Given the description of an element on the screen output the (x, y) to click on. 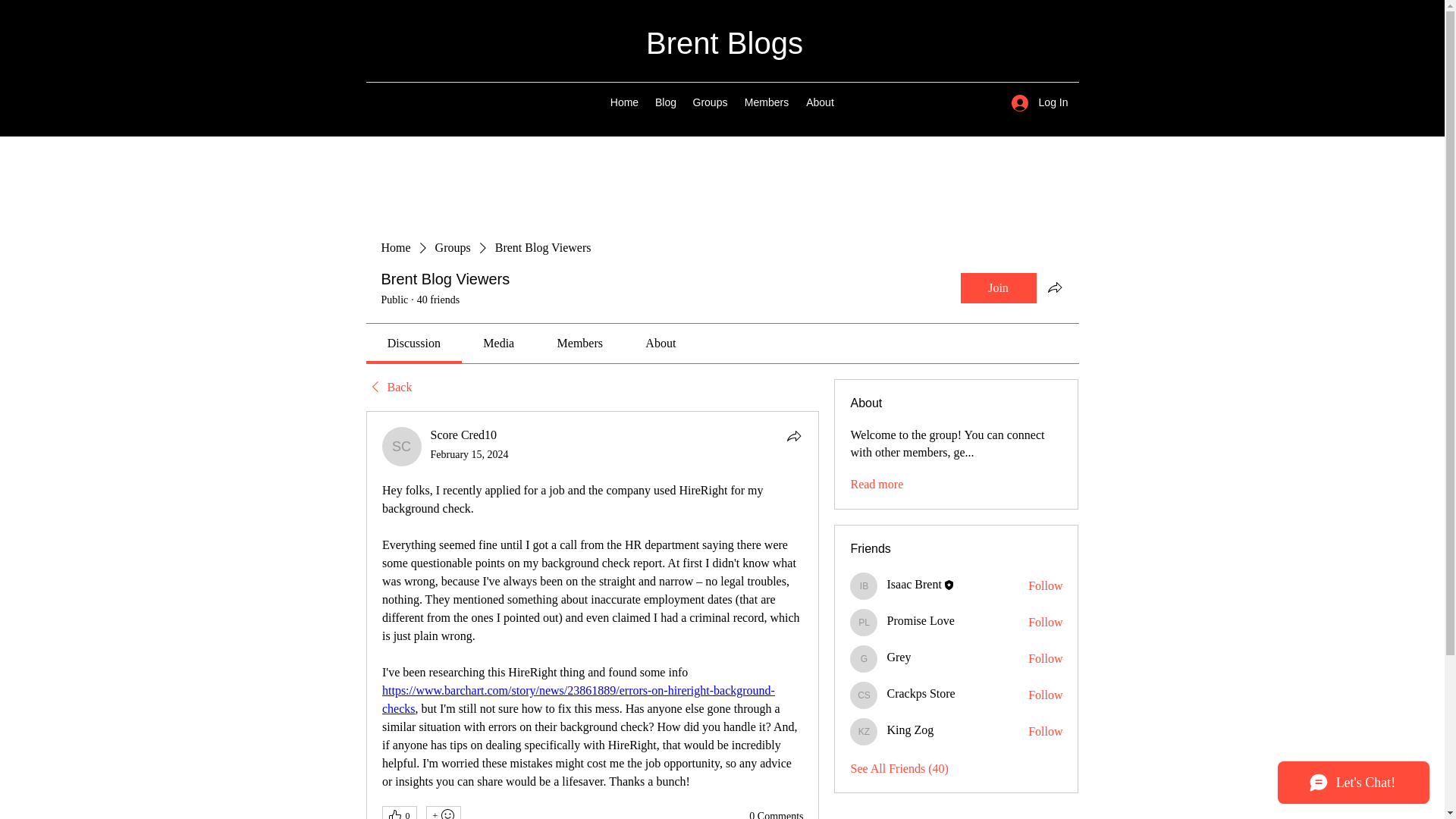
Follow (1044, 695)
Groups (709, 101)
King Zog (909, 729)
Home (624, 101)
Grey (863, 658)
0 Comments (776, 814)
Groups (452, 247)
Grey (898, 656)
King Zog (863, 731)
Score Cred10 (463, 434)
Read more (876, 484)
Crackps Store (863, 695)
Crackps Store (920, 693)
Score Cred10 (401, 446)
Isaac Brent (913, 584)
